Given the description of an element on the screen output the (x, y) to click on. 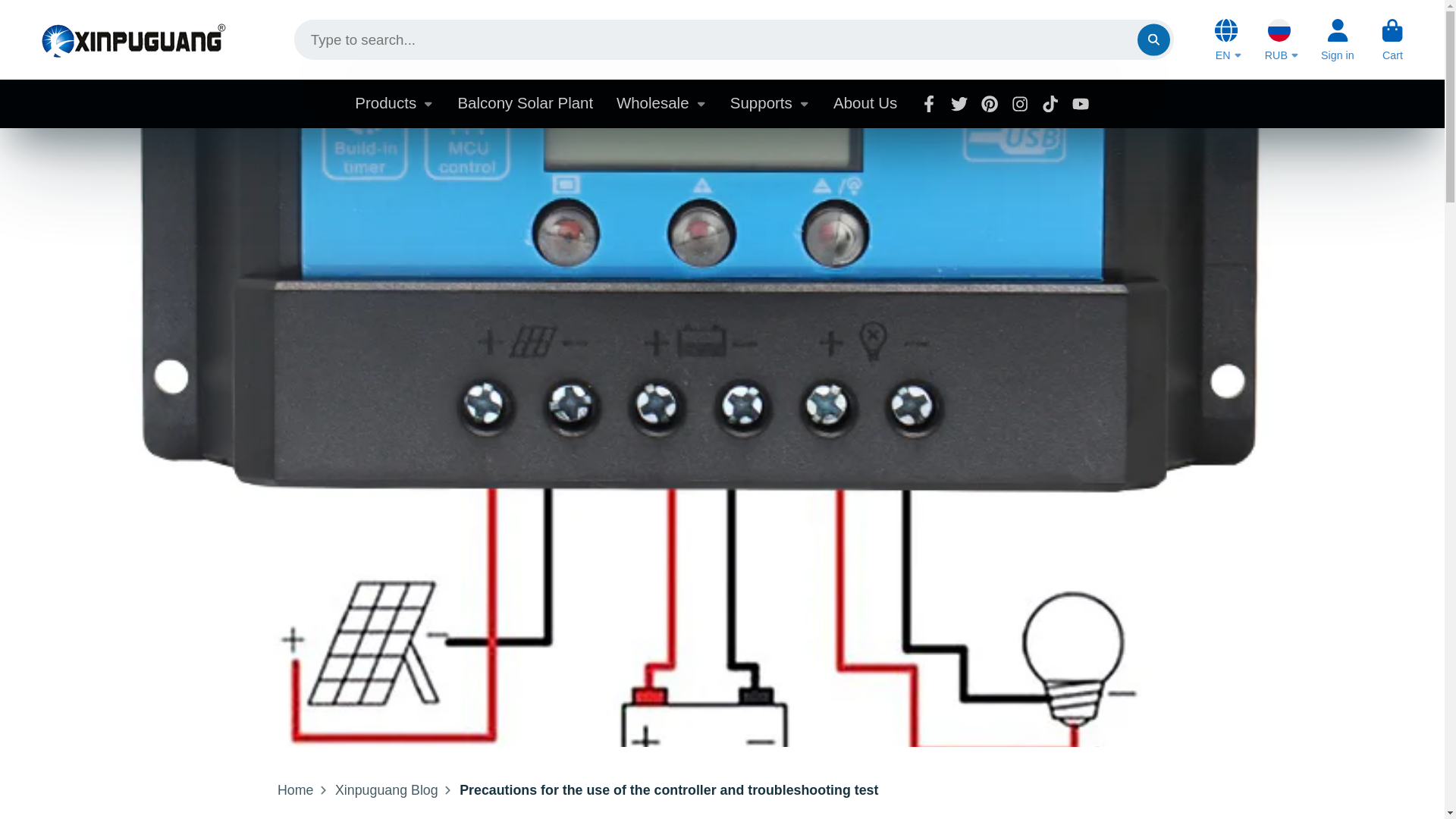
Products (394, 103)
Balcony Solar Plant (524, 103)
Facebook (928, 103)
Supports (770, 103)
Logo (132, 39)
Home (296, 790)
Instagram (1019, 103)
Twitter (959, 103)
TikTok (1050, 103)
About Us (864, 103)
YouTube (1080, 103)
Wholesale (660, 103)
Pinterest (989, 103)
